Given the description of an element on the screen output the (x, y) to click on. 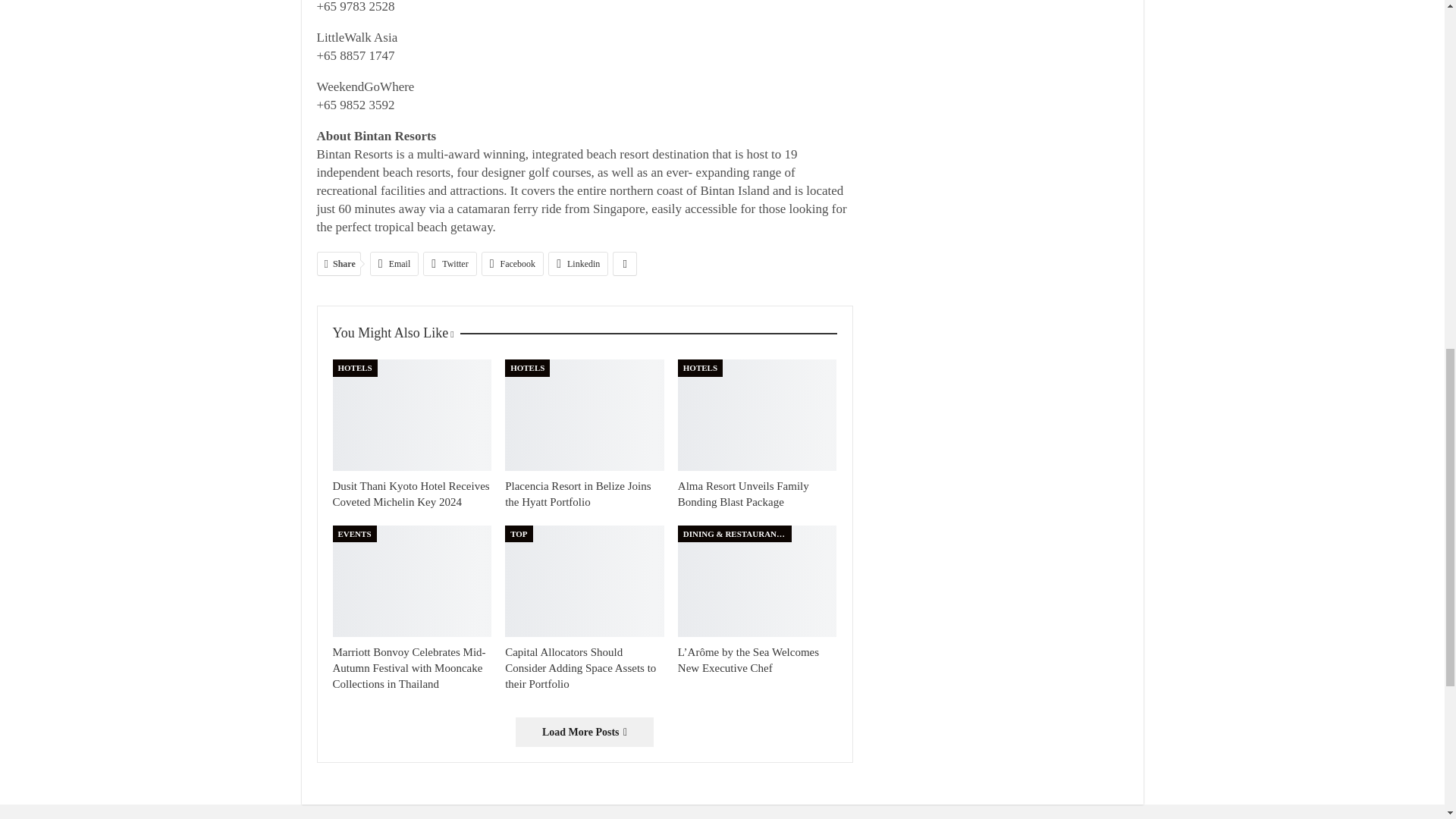
Alma Resort Unveils Family Bonding Blast Package (757, 414)
Placencia Resort in Belize Joins the Hyatt Portfolio (584, 414)
Load More Posts (584, 731)
Dusit Thani Kyoto Hotel Receives Coveted Michelin Key 2024 (410, 493)
Alma Resort Unveils Family Bonding Blast Package (743, 493)
Dusit Thani Kyoto Hotel Receives Coveted Michelin Key 2024 (411, 414)
Placencia Resort in Belize Joins the Hyatt Portfolio (577, 493)
